Given the description of an element on the screen output the (x, y) to click on. 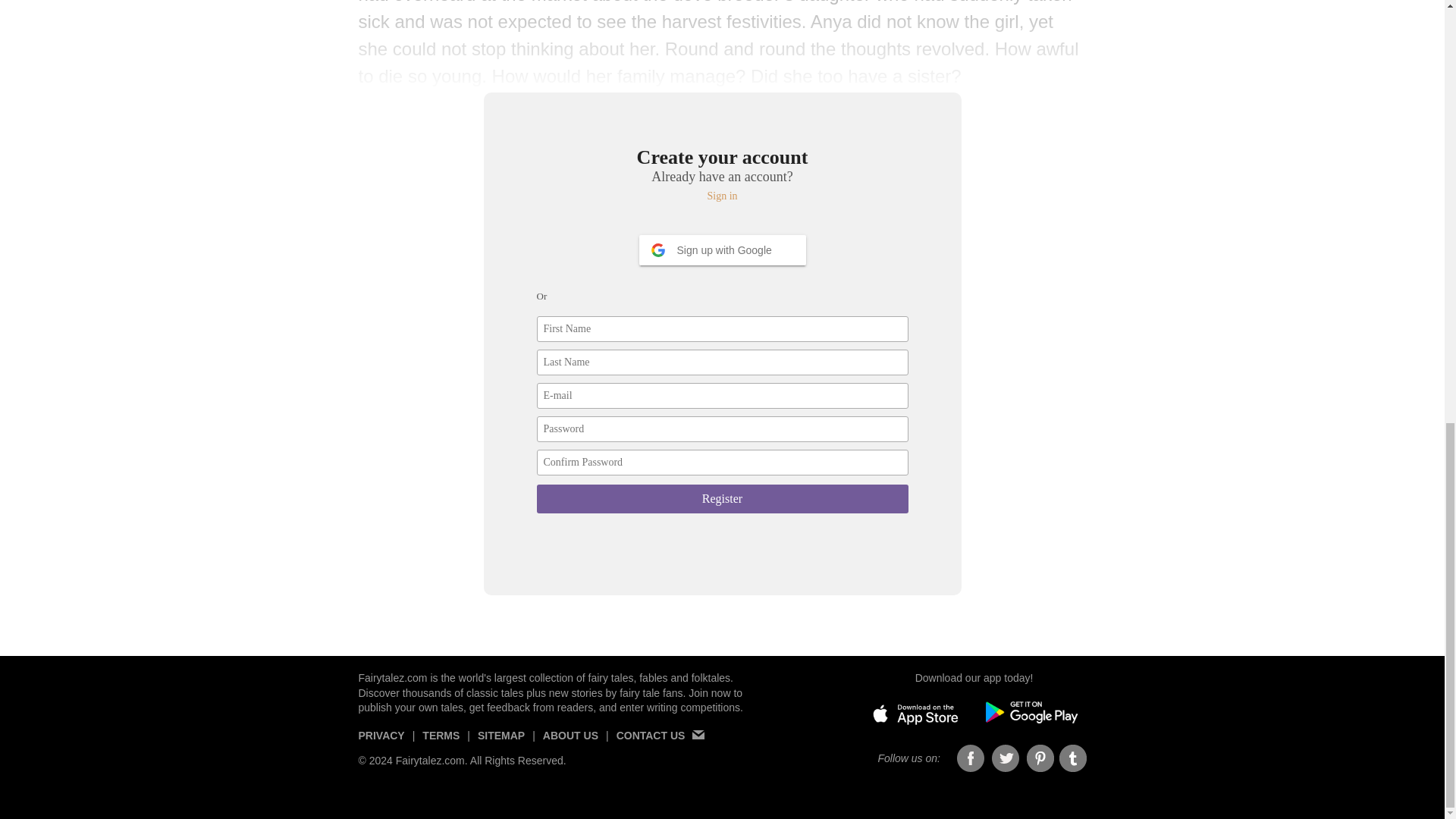
Follow us on Tumblr (1072, 758)
PRIVACY (381, 741)
Sign in (722, 196)
Sign up with Google (722, 250)
TERMS (441, 741)
Follow us on Twitter (1006, 758)
Privacy (381, 741)
Follow us on  Facebook (971, 758)
Sitemap (500, 741)
Register (722, 498)
Follow us on Pinterest (1041, 758)
Fairytalez.com (392, 677)
